Given the description of an element on the screen output the (x, y) to click on. 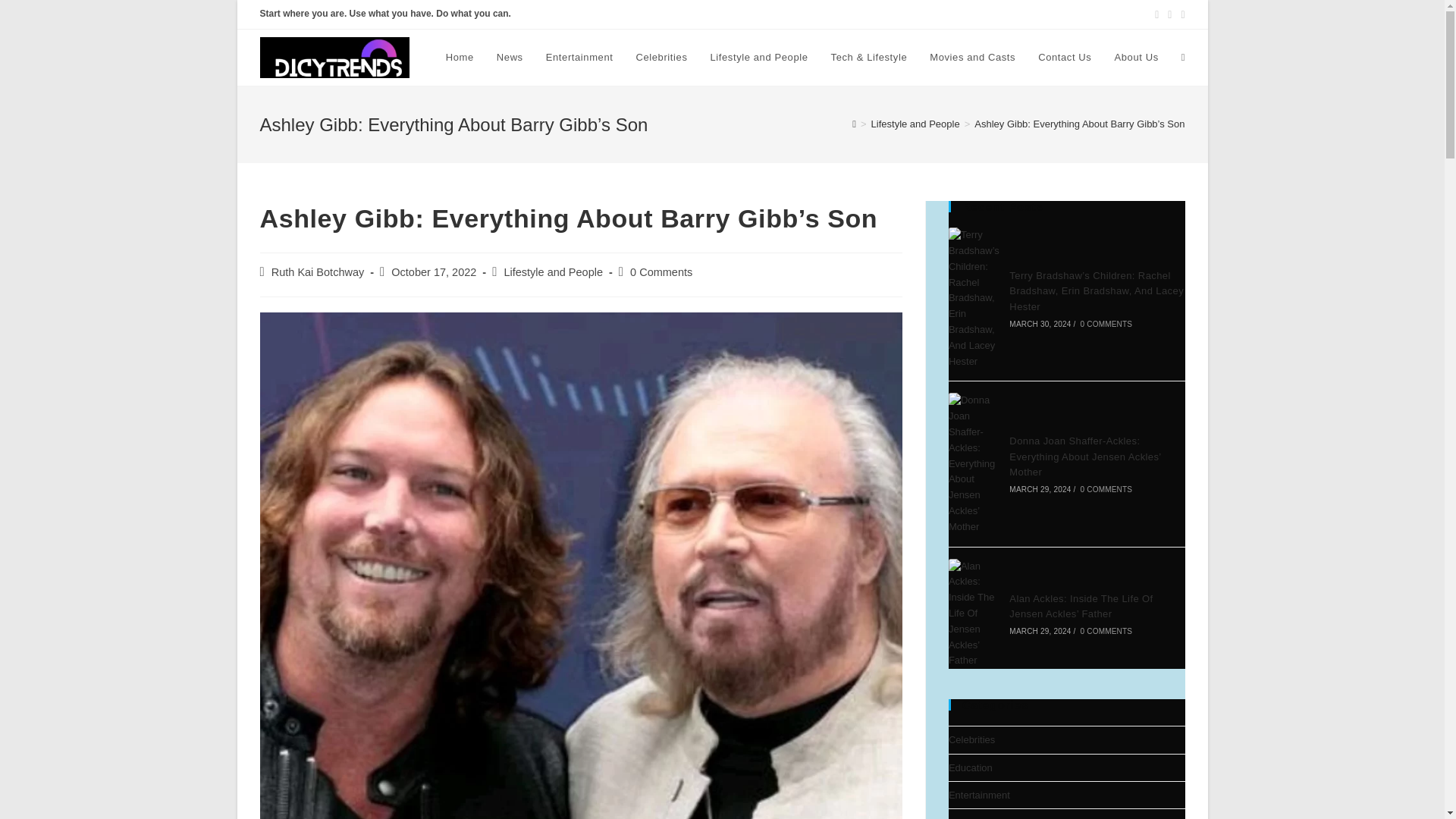
Movies and Casts (972, 57)
About Us (1135, 57)
Celebrities (661, 57)
0 Comments (661, 272)
Contact Us (1064, 57)
Home (458, 57)
Posts by Ruth Kai Botchway (317, 272)
Lifestyle and People (758, 57)
Lifestyle and People (552, 272)
Lifestyle and People (914, 123)
Entertainment (579, 57)
Ruth Kai Botchway (317, 272)
